Given the description of an element on the screen output the (x, y) to click on. 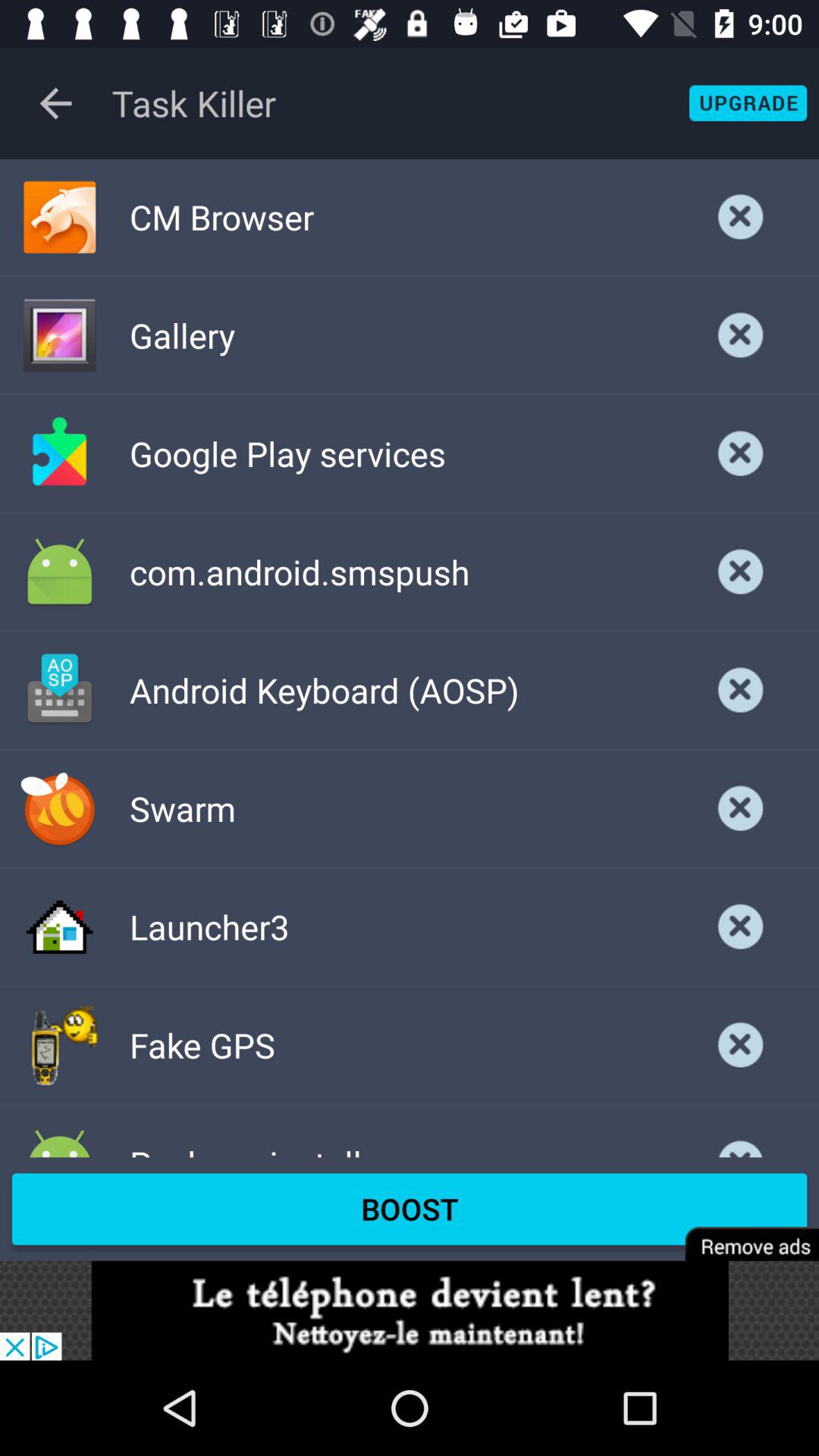
close the option (740, 453)
